Given the description of an element on the screen output the (x, y) to click on. 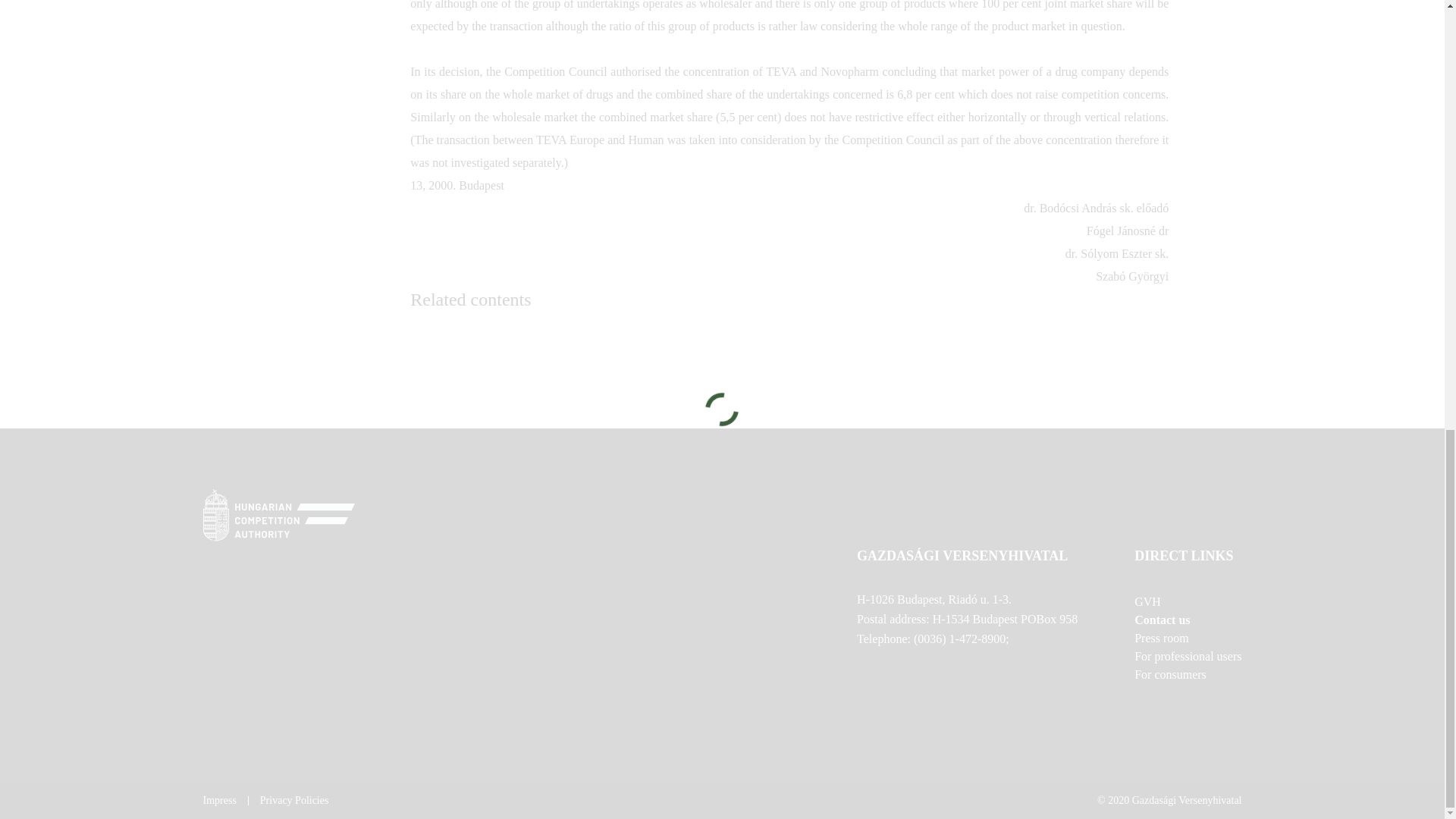
Jump to mainpage (279, 514)
Privacy Policies (294, 800)
Impress (219, 800)
Hungarian Competition Authority (722, 517)
